Given the description of an element on the screen output the (x, y) to click on. 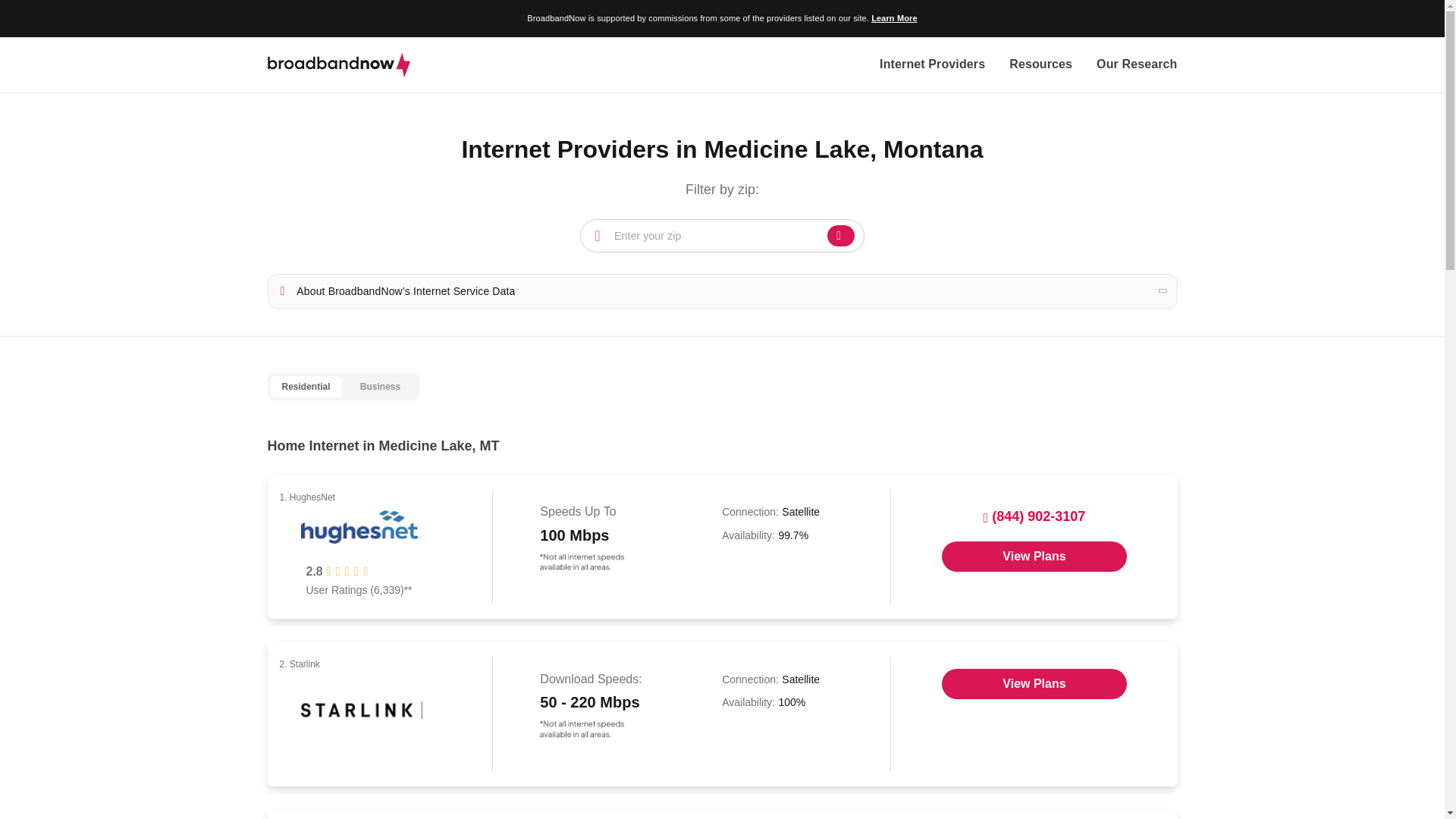
Business (379, 386)
Opens in a new window (1034, 684)
Resources (1040, 64)
Residential (305, 386)
Our Research (1136, 64)
Internet Providers (932, 64)
Learn More (893, 17)
Opens in a new window (1034, 556)
